Given the description of an element on the screen output the (x, y) to click on. 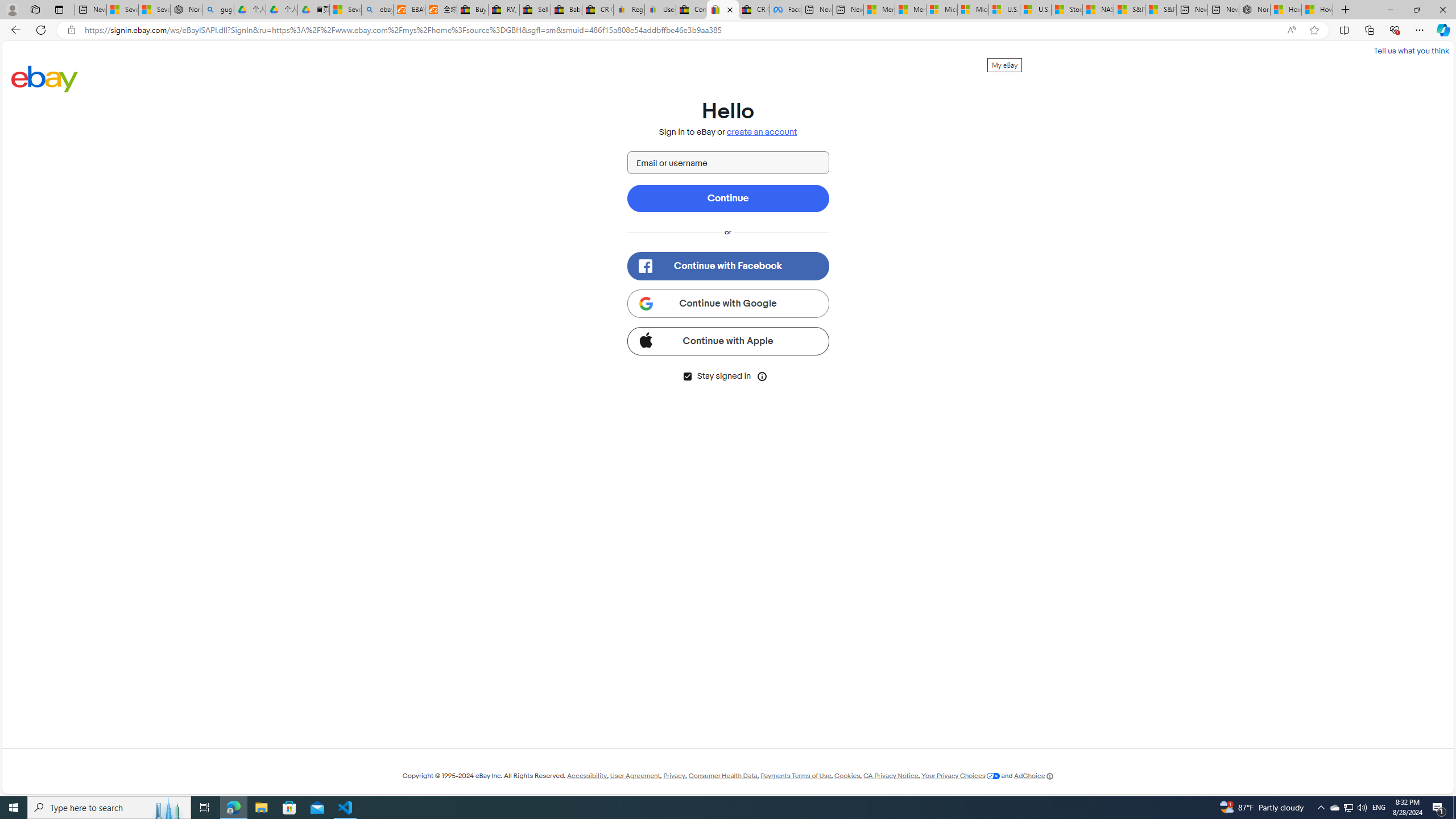
Payments Terms of Use (795, 775)
Your Privacy Choices (960, 775)
Tell us what you think - Link opens in a new window (1410, 50)
Class: apple-icon (645, 339)
Class: ggl-icon (645, 303)
